Given the description of an element on the screen output the (x, y) to click on. 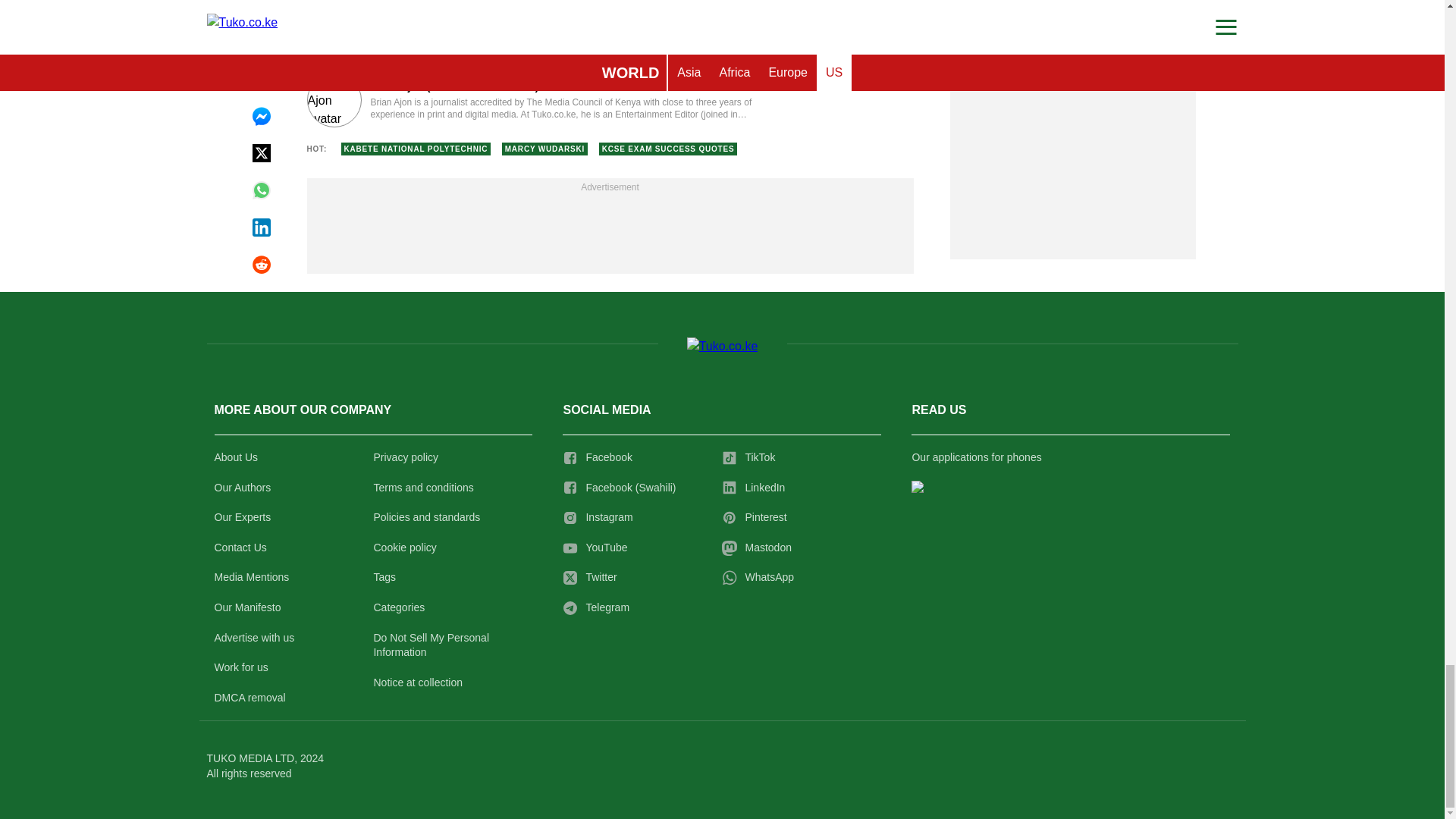
Author page (533, 99)
